Given the description of an element on the screen output the (x, y) to click on. 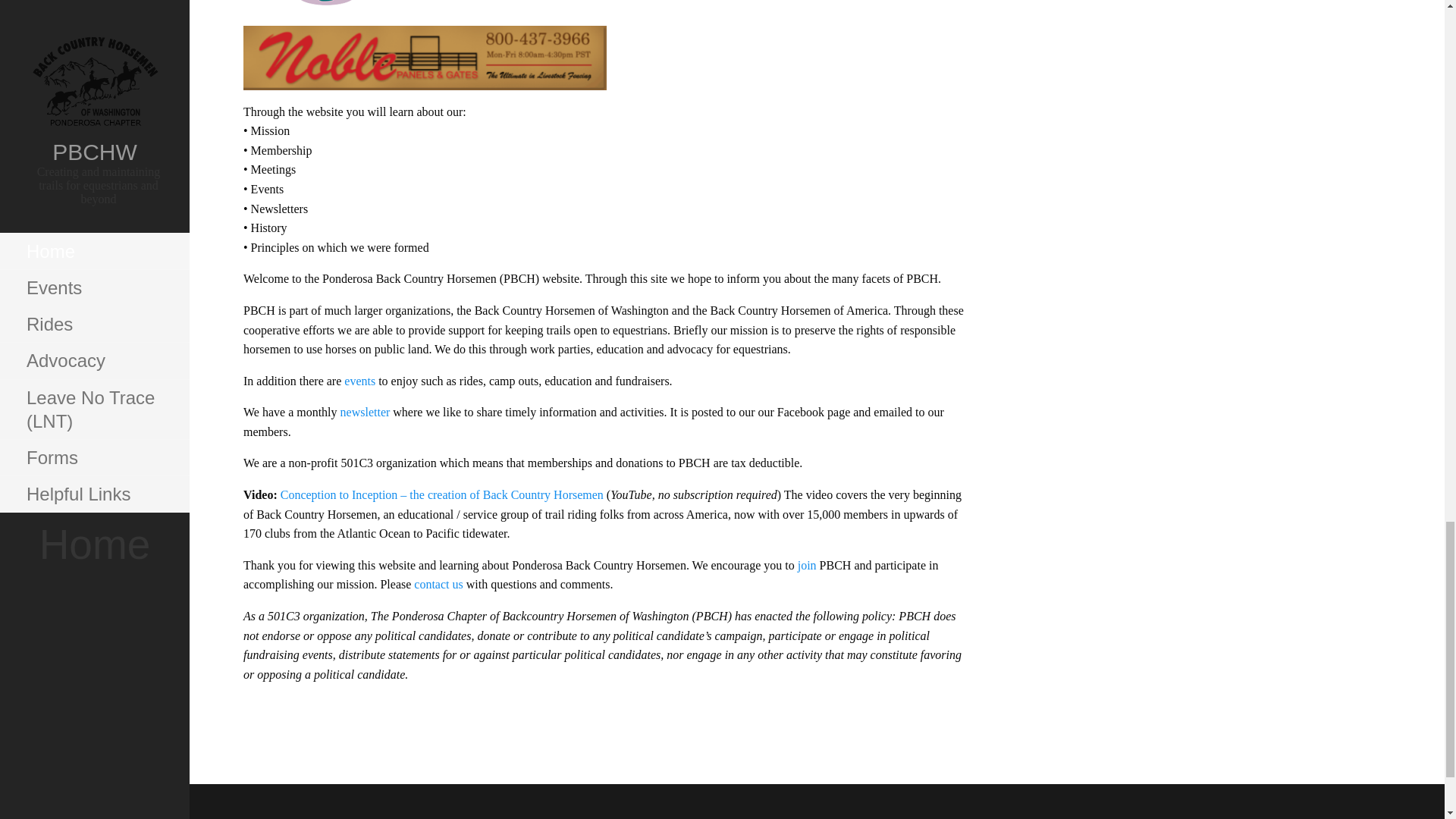
events (360, 380)
newsletter (366, 411)
contact us (438, 584)
join (808, 564)
